Given the description of an element on the screen output the (x, y) to click on. 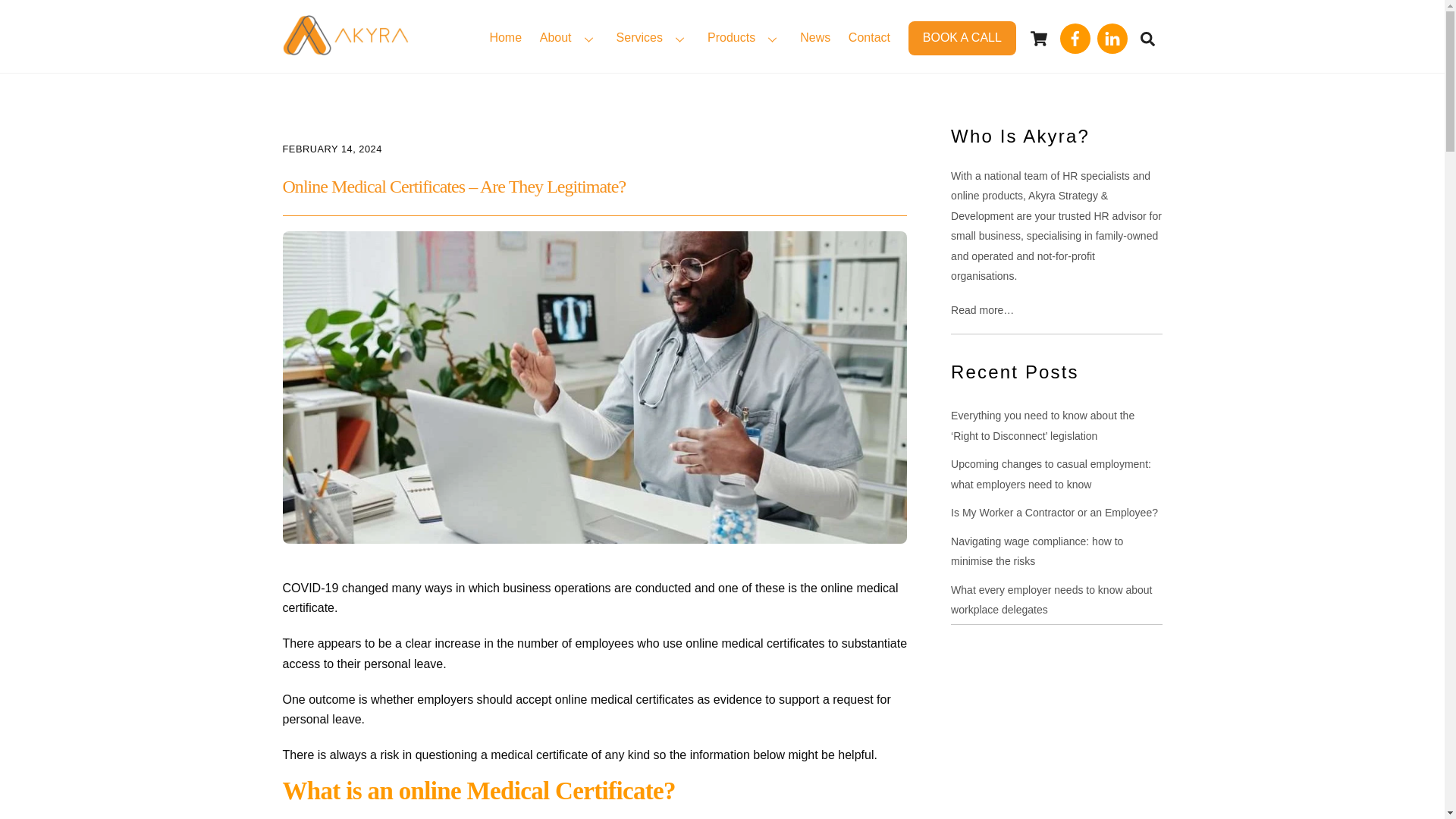
Cart (1038, 38)
Akyra (344, 47)
About (568, 38)
Home (505, 38)
Services (652, 38)
Products (744, 38)
Search (1146, 37)
